Given the description of an element on the screen output the (x, y) to click on. 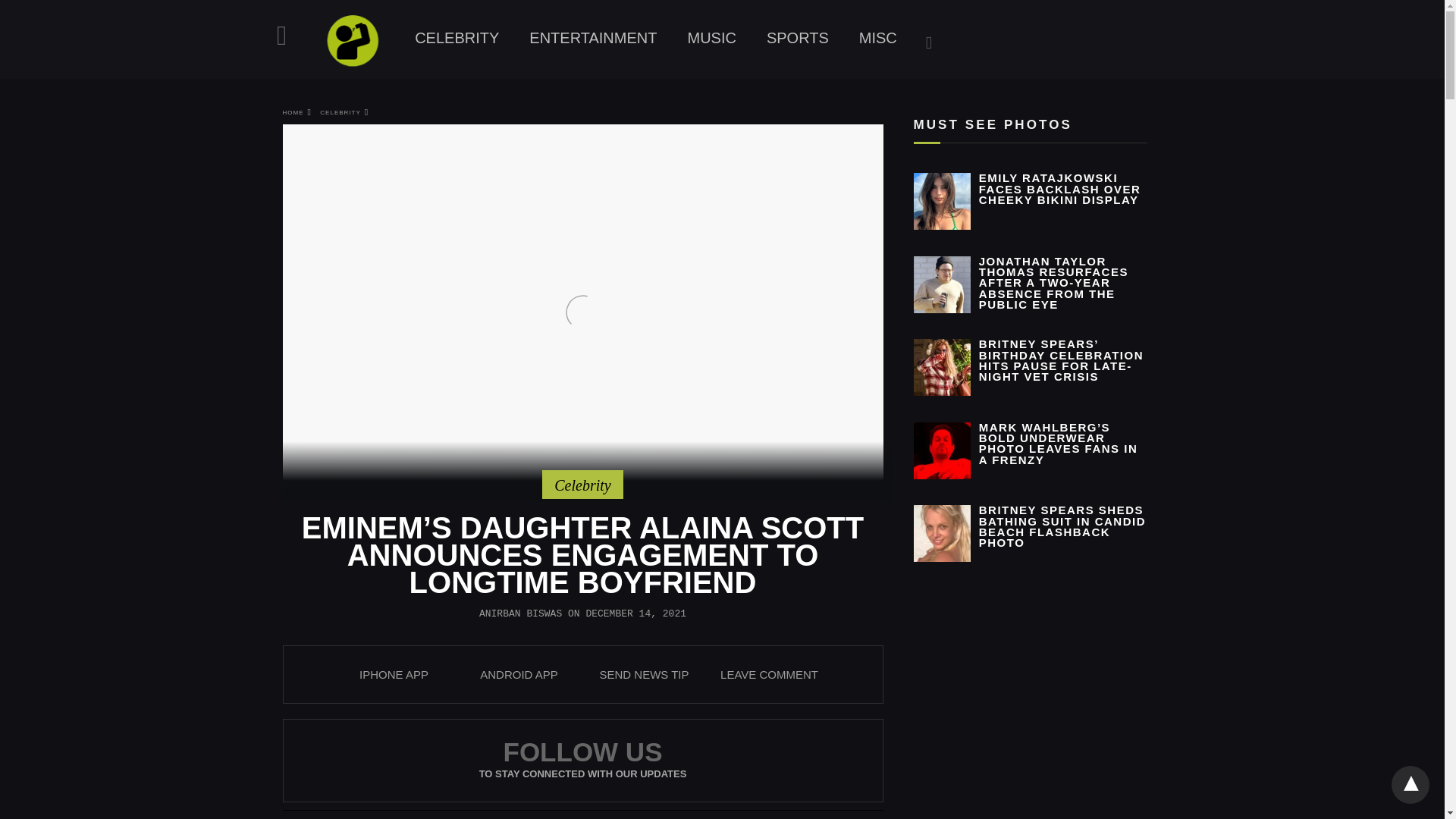
Celebrity News (455, 37)
MUSIC (711, 37)
Celebrity (582, 484)
IPHONE APP (393, 674)
LEAVE COMMENT (769, 674)
ENTERTAINMENT (592, 37)
CELEBRITY (455, 37)
ANDROID APP (518, 674)
SEND NEWS TIP (643, 674)
ANIRBAN BISWAS (520, 613)
